Given the description of an element on the screen output the (x, y) to click on. 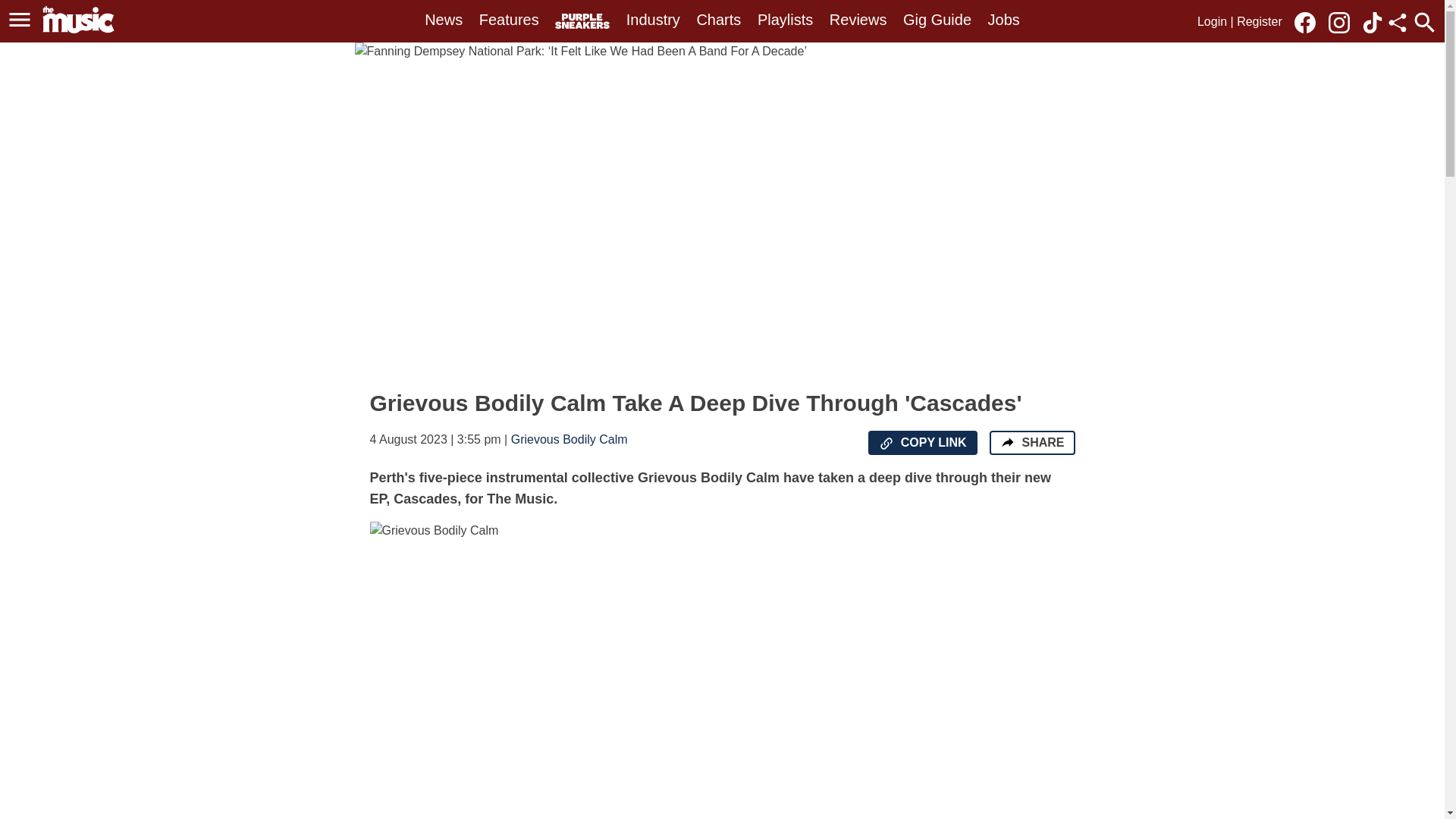
Industry (652, 19)
Share the page SHARE (1032, 442)
Share this page (1397, 22)
Link to our TikTok (1372, 21)
Features (508, 19)
Link to our Instagram (1338, 22)
Link to our Facebook (1305, 22)
Playlists (784, 19)
Copy the page URL COPY LINK (921, 442)
Share the page (1007, 441)
Open the main menu (22, 19)
Copy the page URL (886, 443)
Gig Guide (936, 19)
Link to our Facebook (1309, 21)
Link to our TikTok (1372, 22)
